Given the description of an element on the screen output the (x, y) to click on. 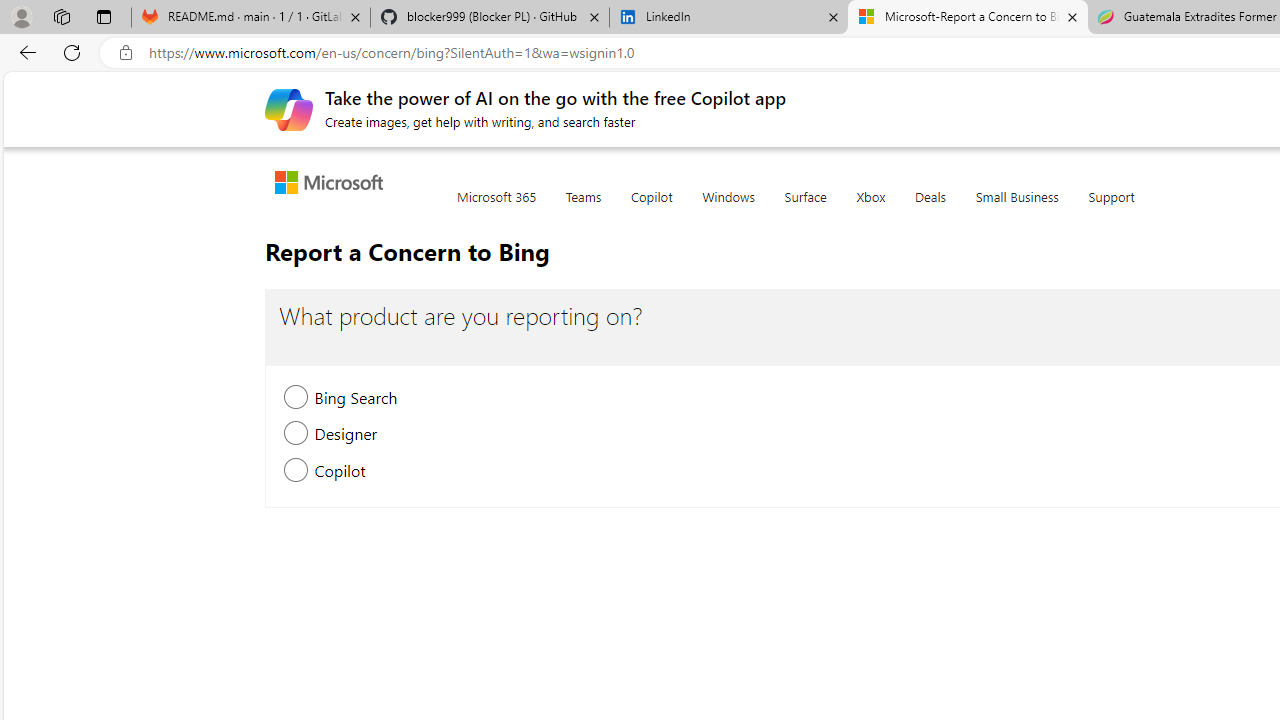
Copilot, new section will be expanded (296, 471)
Copilot (651, 208)
Small Business (1017, 207)
